Given the description of an element on the screen output the (x, y) to click on. 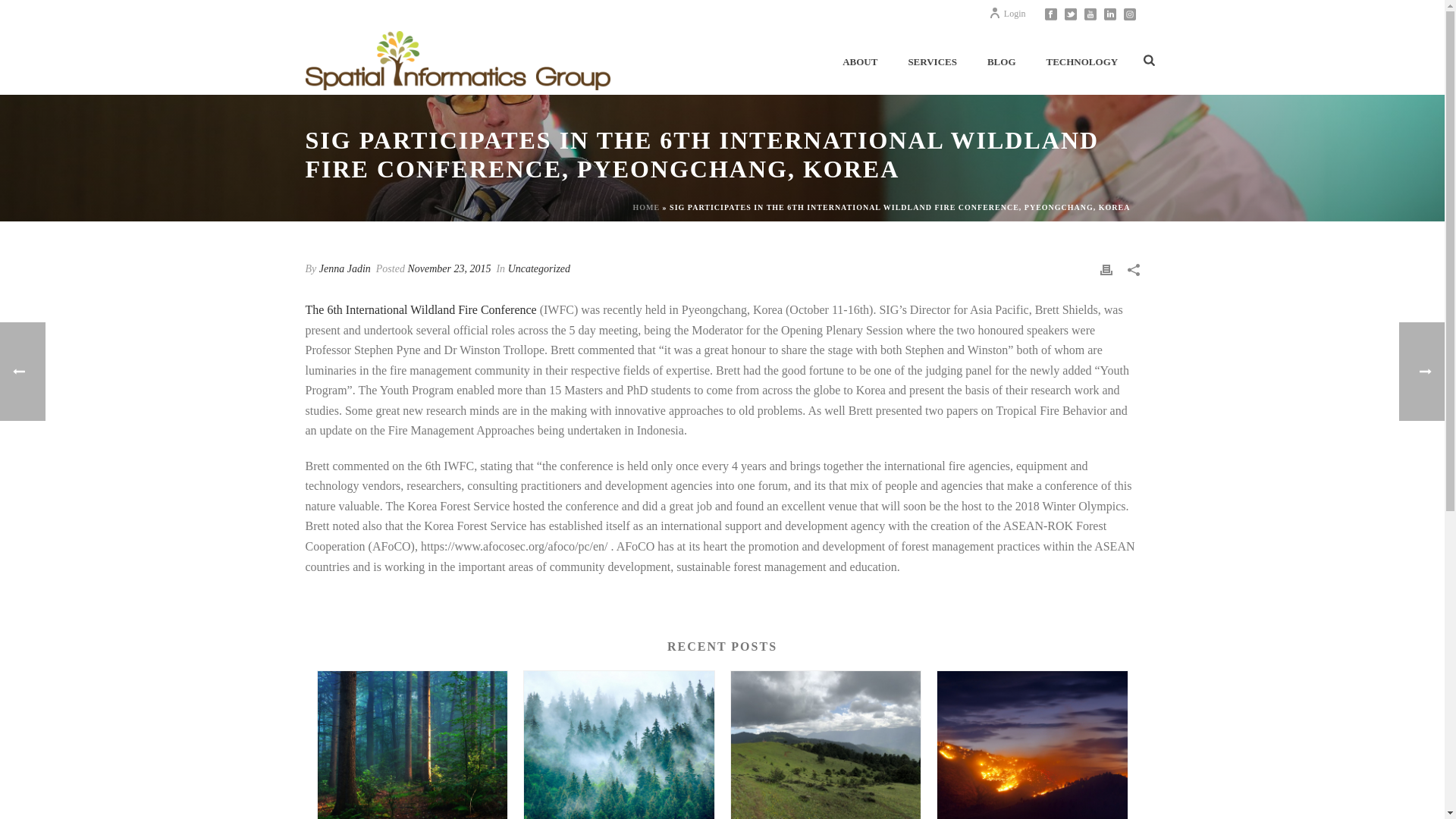
SERVICES (932, 60)
ABOUT (859, 60)
Pyregence Webinar Series (1031, 744)
Login (1007, 13)
TECHNOLOGY (1082, 60)
ABOUT (859, 60)
TECHNOLOGY (1082, 60)
Posts by Jenna Jadin (344, 268)
BLOG (1001, 60)
SERVICES (932, 60)
Print (1105, 268)
BLOG (1001, 60)
